Given the description of an element on the screen output the (x, y) to click on. 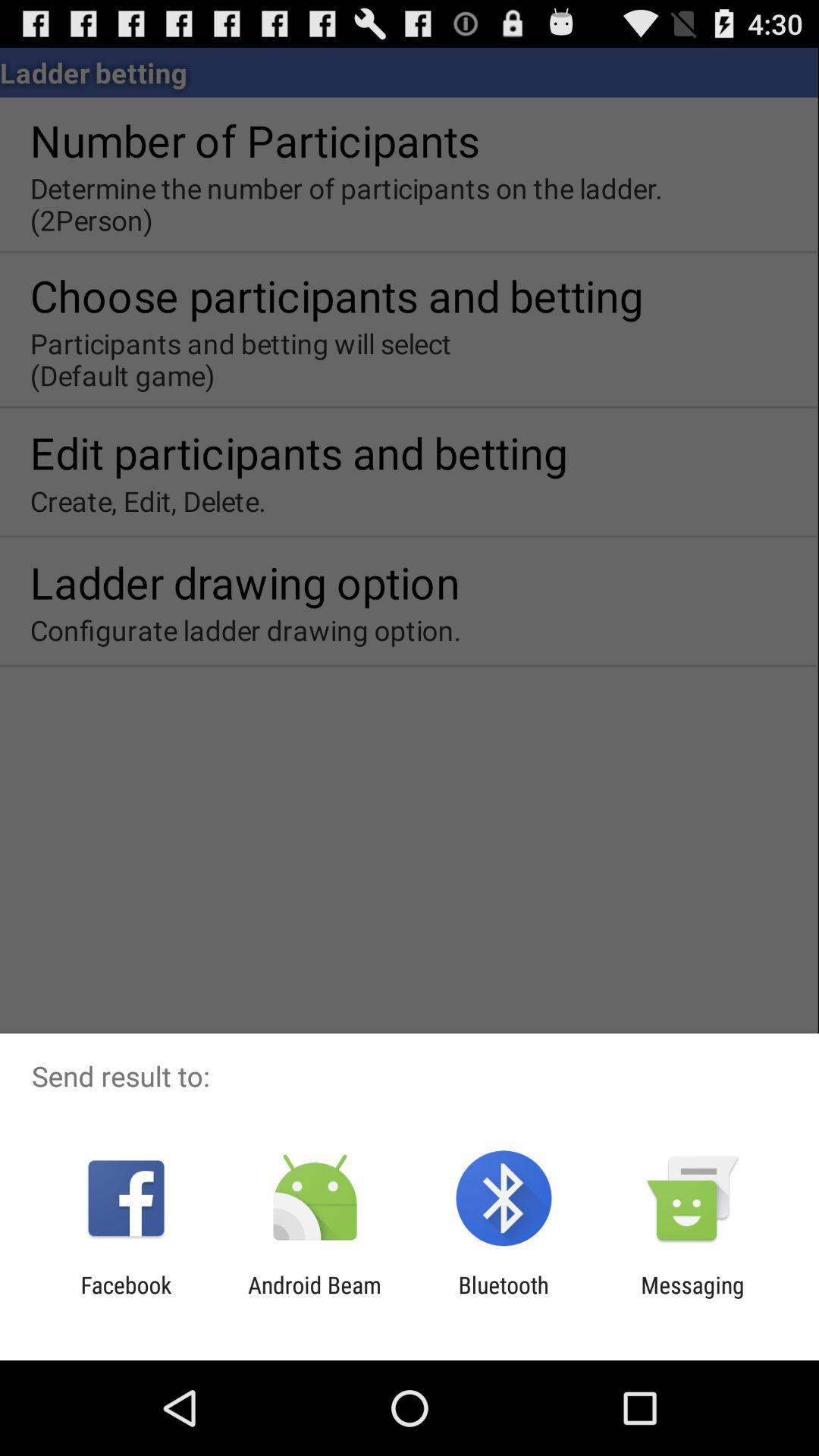
flip to messaging icon (692, 1298)
